Given the description of an element on the screen output the (x, y) to click on. 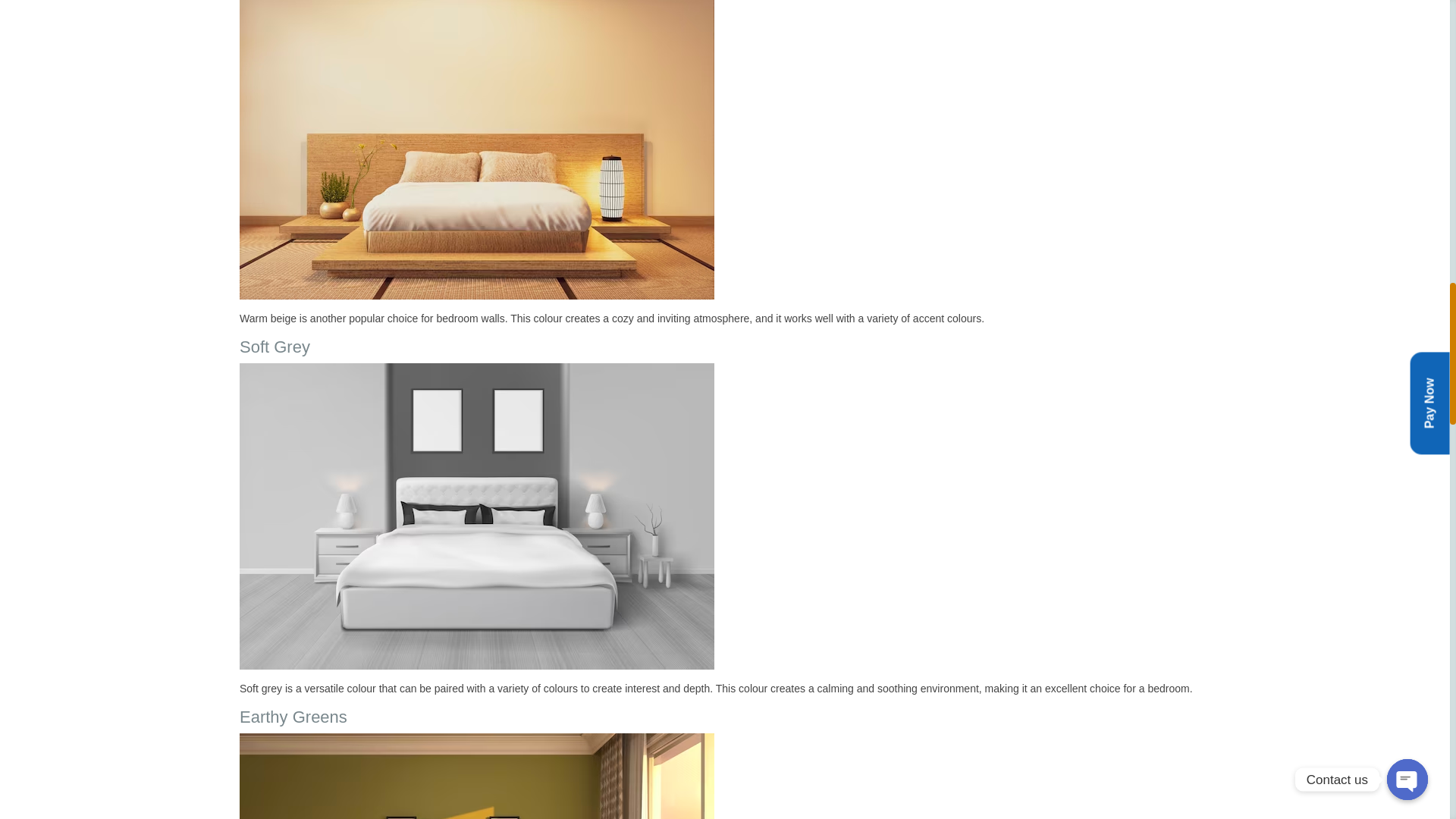
Earthy Greens colors in bedroom (477, 776)
